Given the description of an element on the screen output the (x, y) to click on. 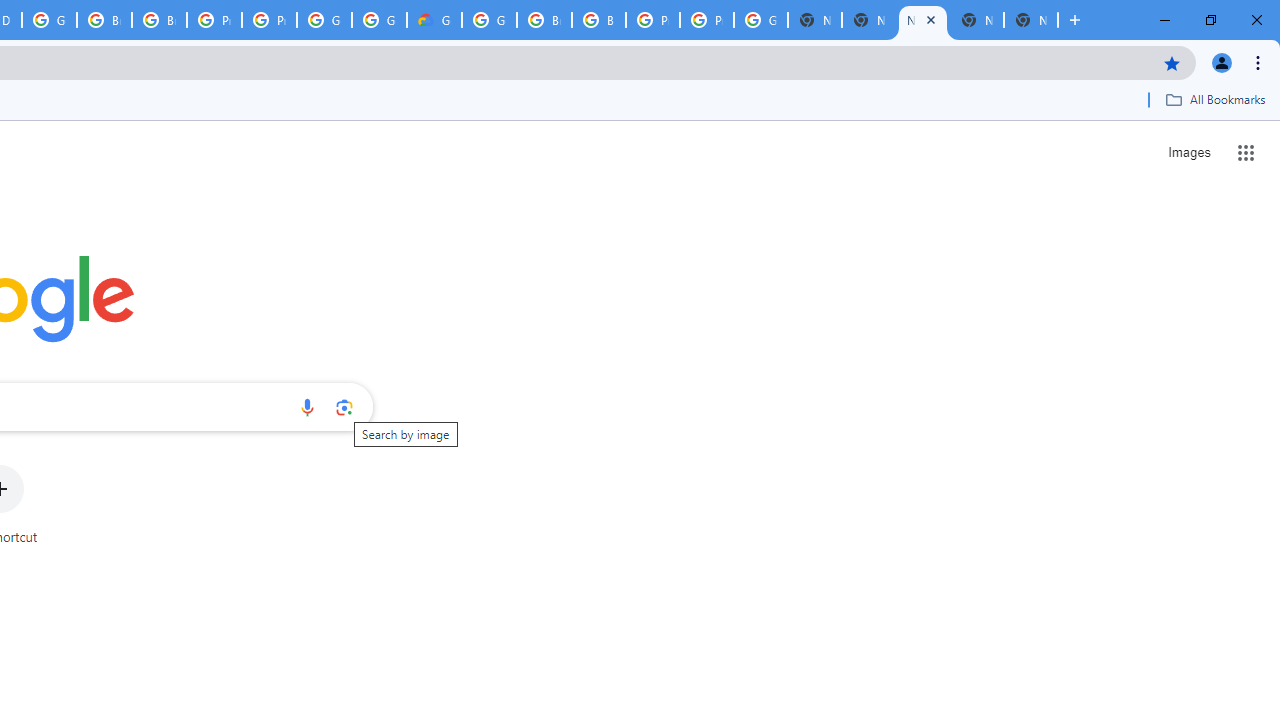
Google Cloud Platform (760, 20)
Browse Chrome as a guest - Computer - Google Chrome Help (103, 20)
Google Cloud Platform (379, 20)
Google Cloud Platform (324, 20)
Google Cloud Platform (489, 20)
